Given the description of an element on the screen output the (x, y) to click on. 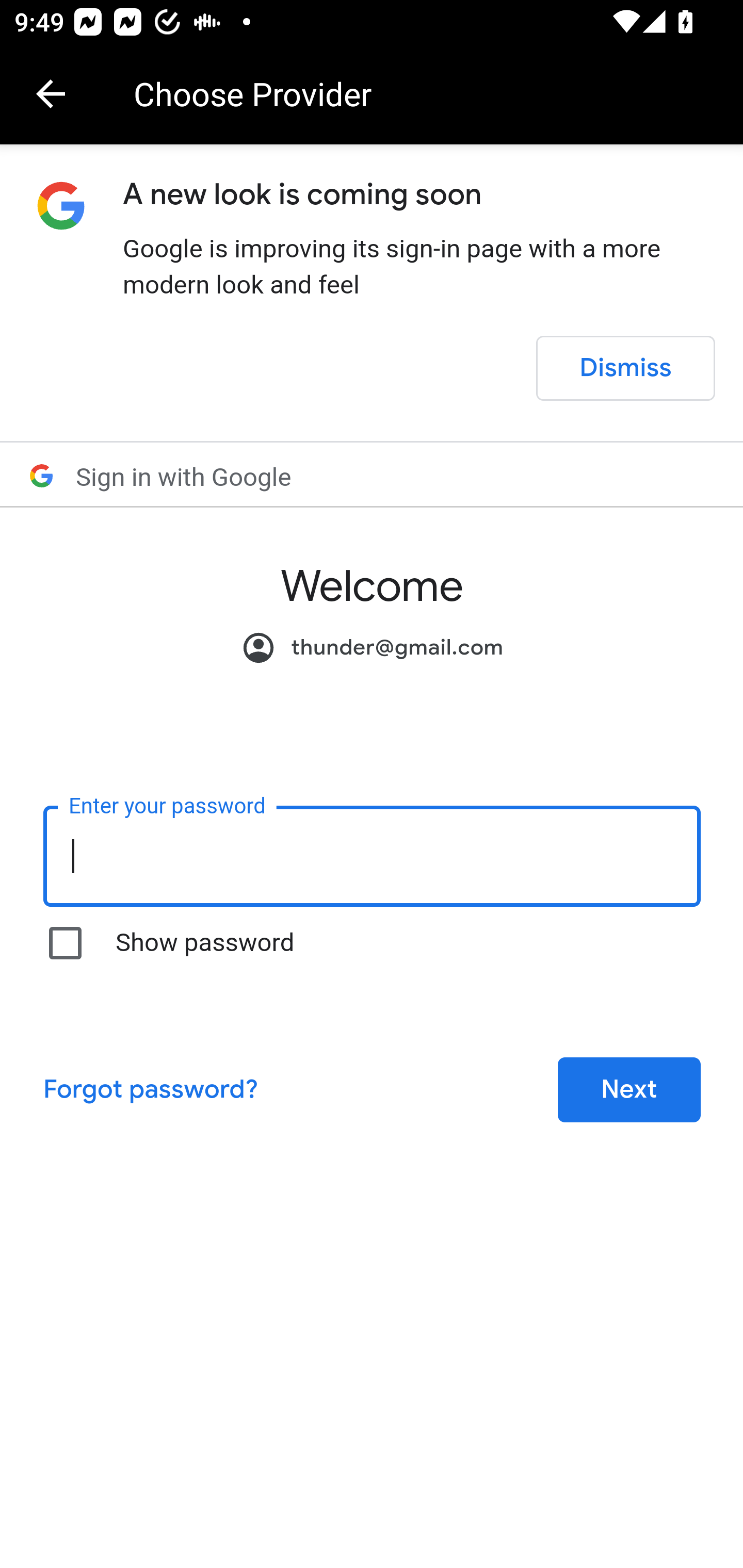
Navigate up (50, 93)
Dismiss (625, 368)
Show password (65, 942)
Forgot password? (150, 1088)
Next (629, 1088)
